Given the description of an element on the screen output the (x, y) to click on. 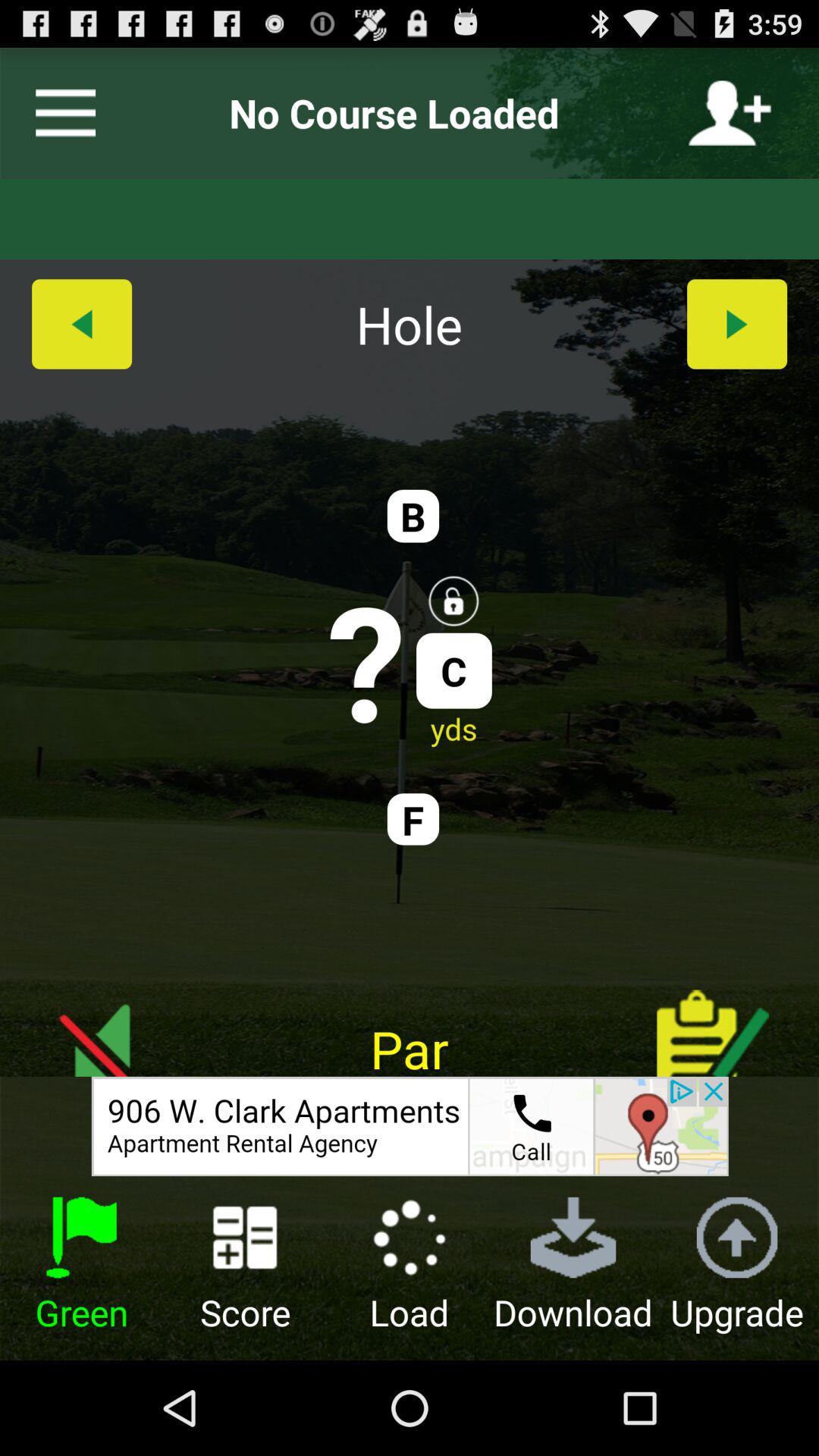
select advertisement (409, 1126)
